Given the description of an element on the screen output the (x, y) to click on. 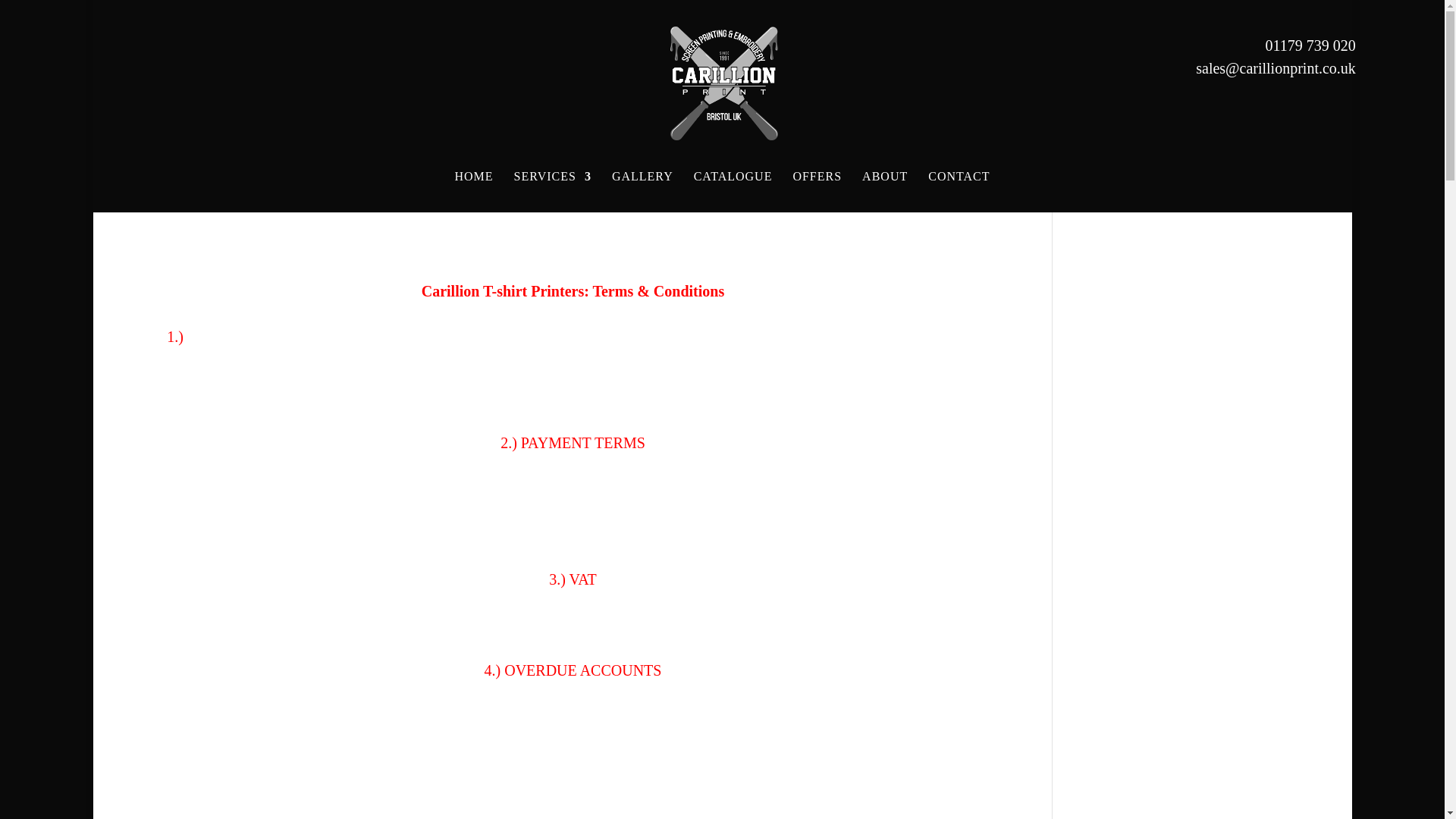
01179 739 020 (1310, 45)
SERVICES (552, 191)
OFFERS (816, 191)
CATALOGUE (733, 191)
CONTACT (959, 191)
ABOUT (884, 191)
HOME (473, 191)
GALLERY (641, 191)
